Given the description of an element on the screen output the (x, y) to click on. 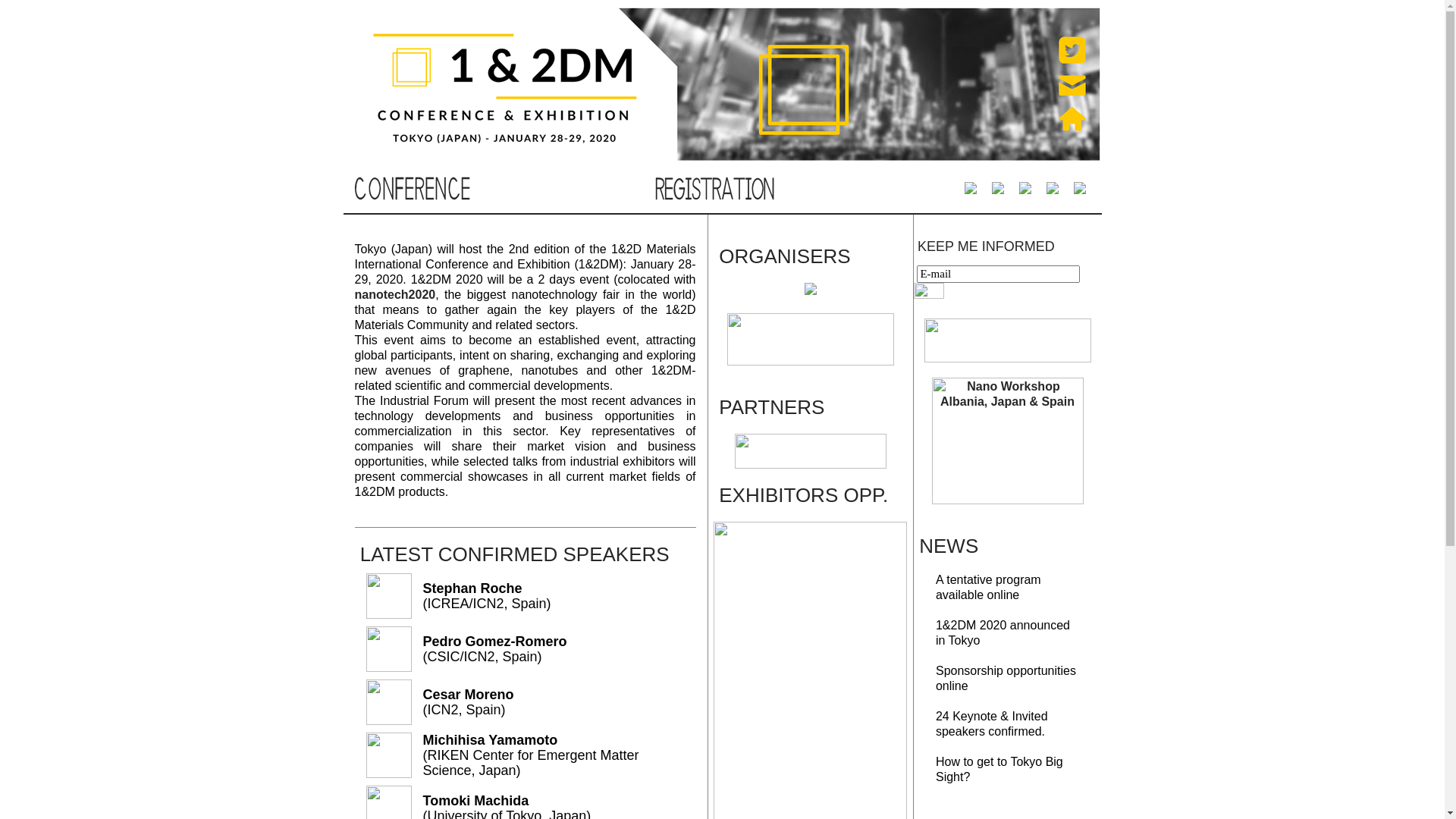
ORGANISERS Element type: text (784, 255)
PARTNERS Element type: text (771, 406)
nanotech2020 Element type: text (395, 294)
LATEST CONFIRMED SPEAKERS Element type: text (514, 553)
NEWS Element type: text (948, 545)
EXHIBITORS OPP. Element type: text (803, 494)
